Given the description of an element on the screen output the (x, y) to click on. 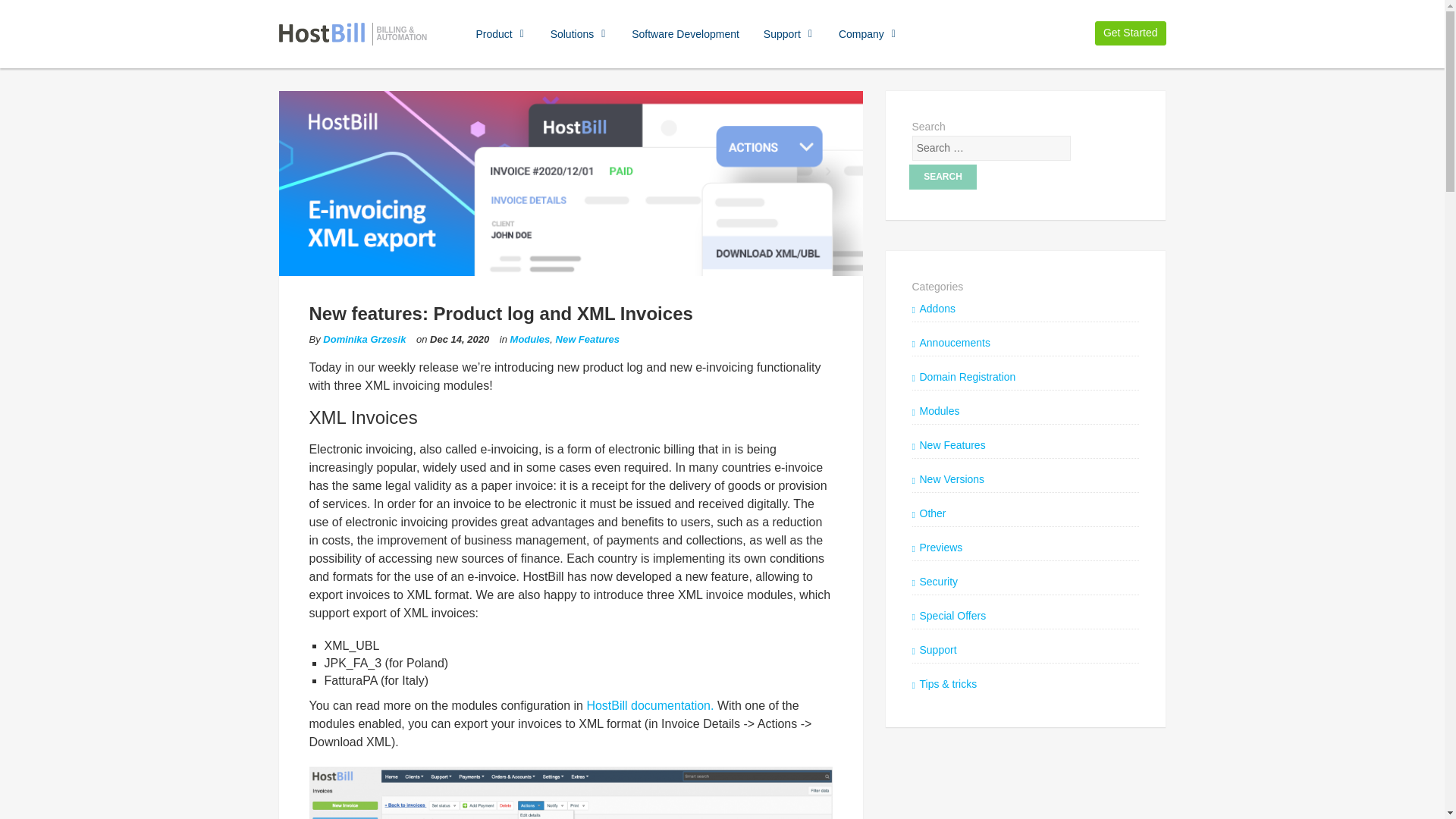
Solutions (579, 33)
Get Started (1130, 33)
Search (942, 176)
Support (789, 33)
Search (942, 176)
Software Development (685, 33)
Product (500, 33)
Company (868, 33)
